Given the description of an element on the screen output the (x, y) to click on. 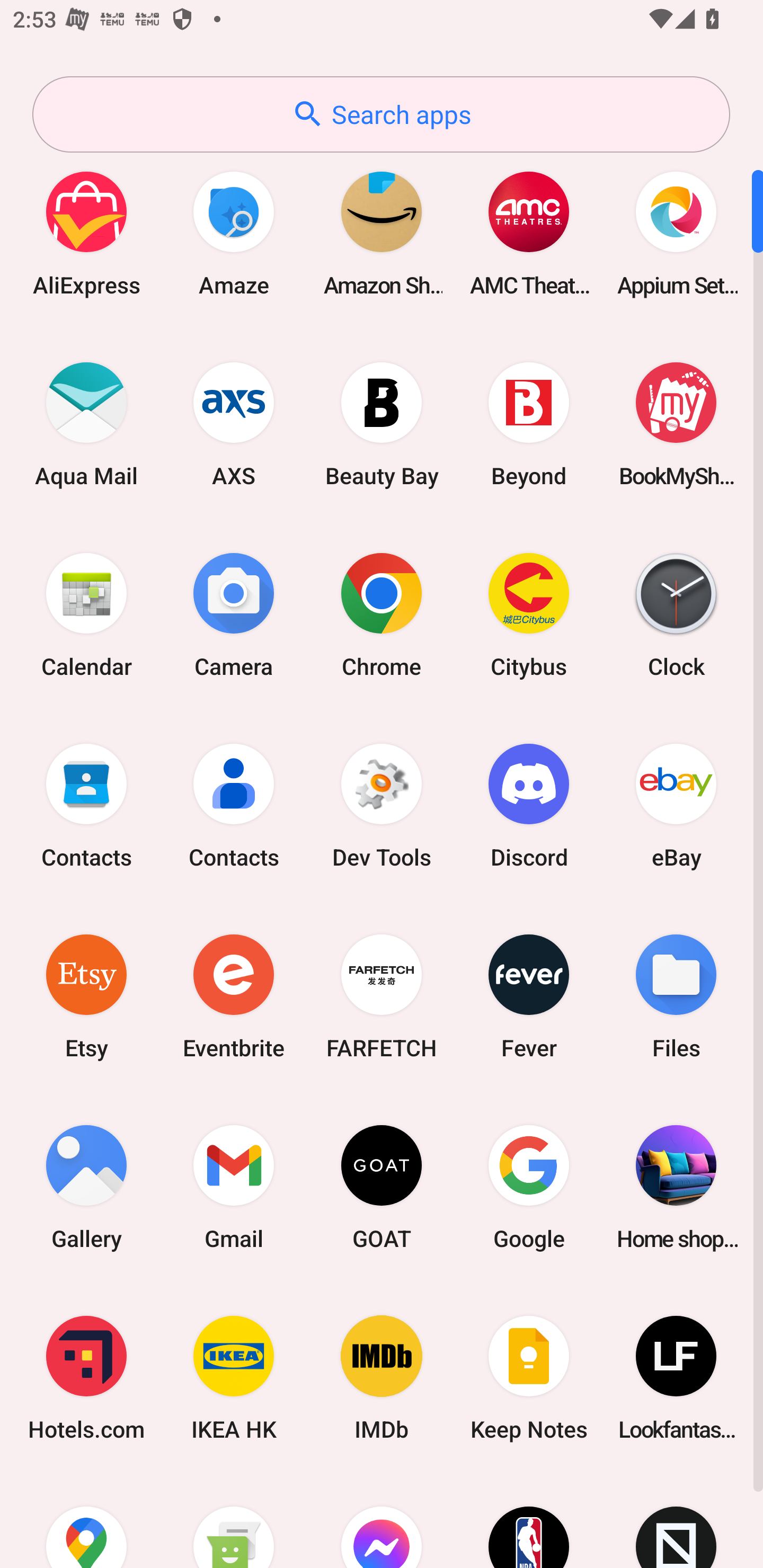
  Search apps (381, 114)
AliExpress (86, 233)
Amaze (233, 233)
Amazon Shopping (381, 233)
AMC Theatres (528, 233)
Appium Settings (676, 233)
Aqua Mail (86, 424)
AXS (233, 424)
Beauty Bay (381, 424)
Beyond (528, 424)
BookMyShow (676, 424)
Calendar (86, 614)
Camera (233, 614)
Chrome (381, 614)
Citybus (528, 614)
Clock (676, 614)
Contacts (86, 805)
Contacts (233, 805)
Dev Tools (381, 805)
Discord (528, 805)
eBay (676, 805)
Etsy (86, 996)
Eventbrite (233, 996)
FARFETCH (381, 996)
Fever (528, 996)
Files (676, 996)
Gallery (86, 1186)
Gmail (233, 1186)
GOAT (381, 1186)
Google (528, 1186)
Home shopping (676, 1186)
Hotels.com (86, 1377)
IKEA HK (233, 1377)
IMDb (381, 1377)
Keep Notes (528, 1377)
Lookfantastic (676, 1377)
